Given the description of an element on the screen output the (x, y) to click on. 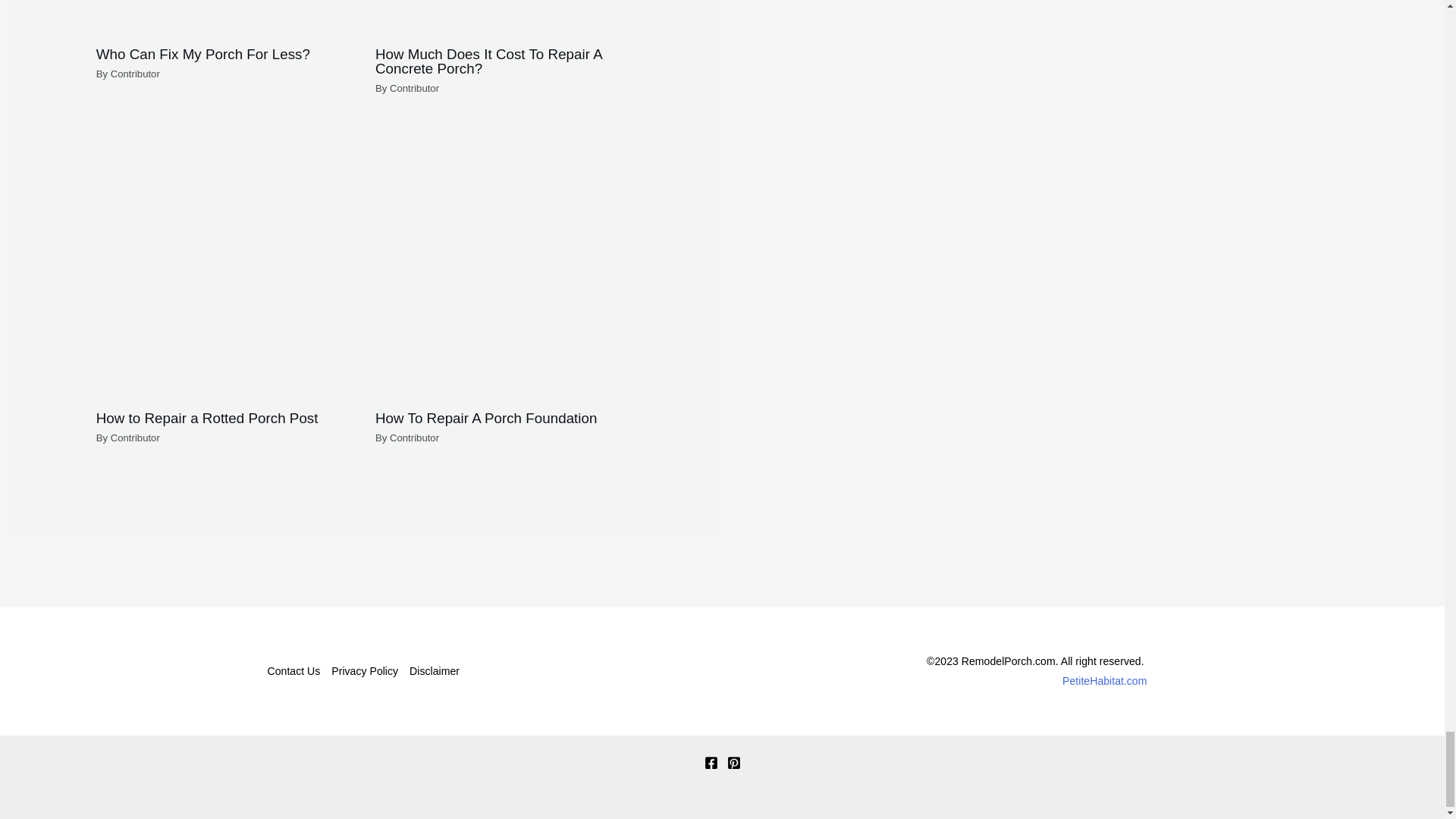
View all posts by Contributor (414, 88)
View all posts by Contributor (414, 437)
View all posts by Contributor (135, 73)
View all posts by Contributor (135, 437)
